Given the description of an element on the screen output the (x, y) to click on. 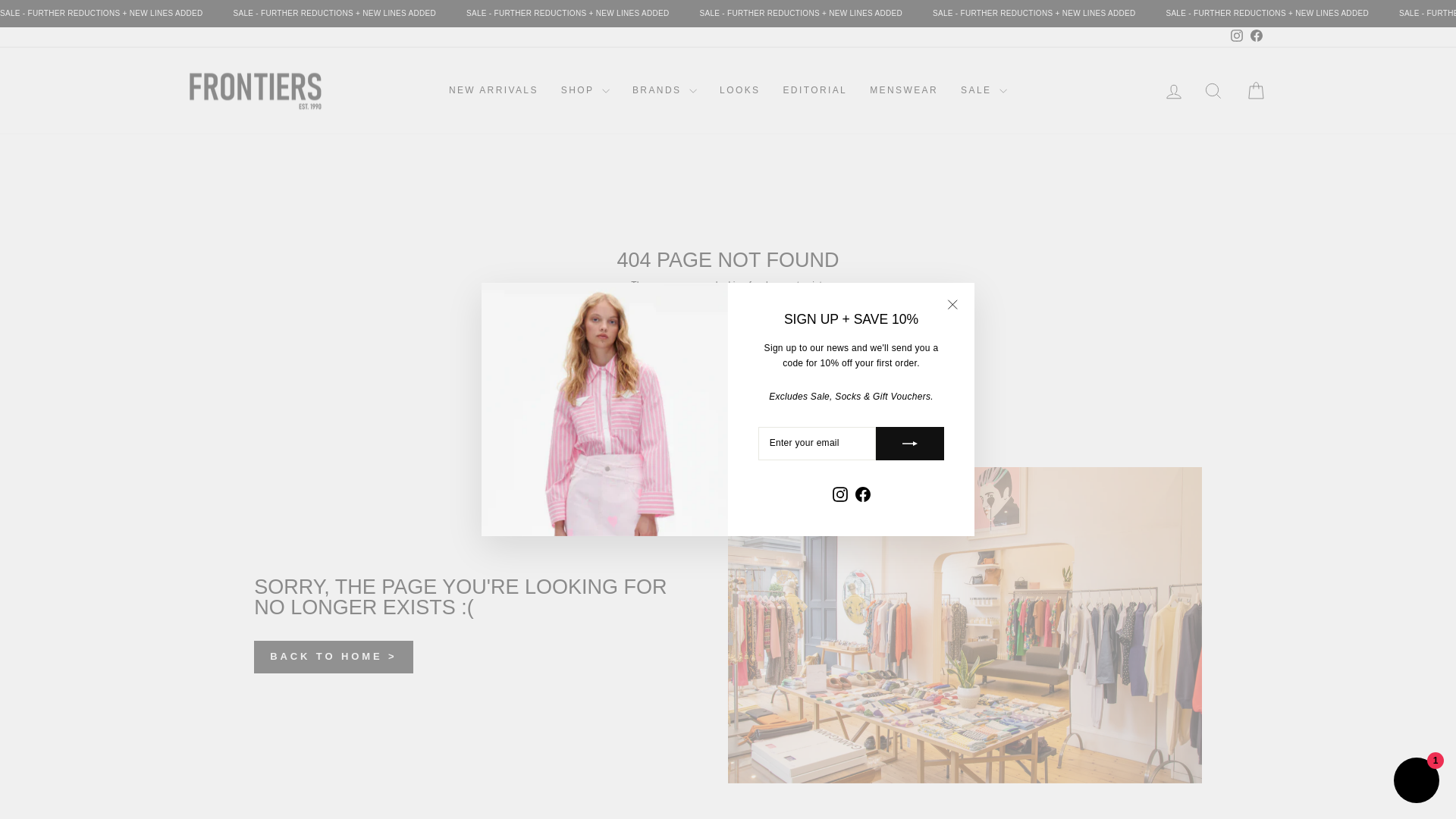
Frontiers Woman on Instagram (839, 494)
Frontiers Woman on Instagram (1236, 36)
Frontiers Woman on Facebook (1256, 36)
ICON-SEARCH (1213, 90)
Shopify online store chat (1416, 781)
icon-X (952, 304)
Frontiers Woman on Facebook (861, 494)
instagram (1236, 35)
ACCOUNT (1174, 91)
